Given the description of an element on the screen output the (x, y) to click on. 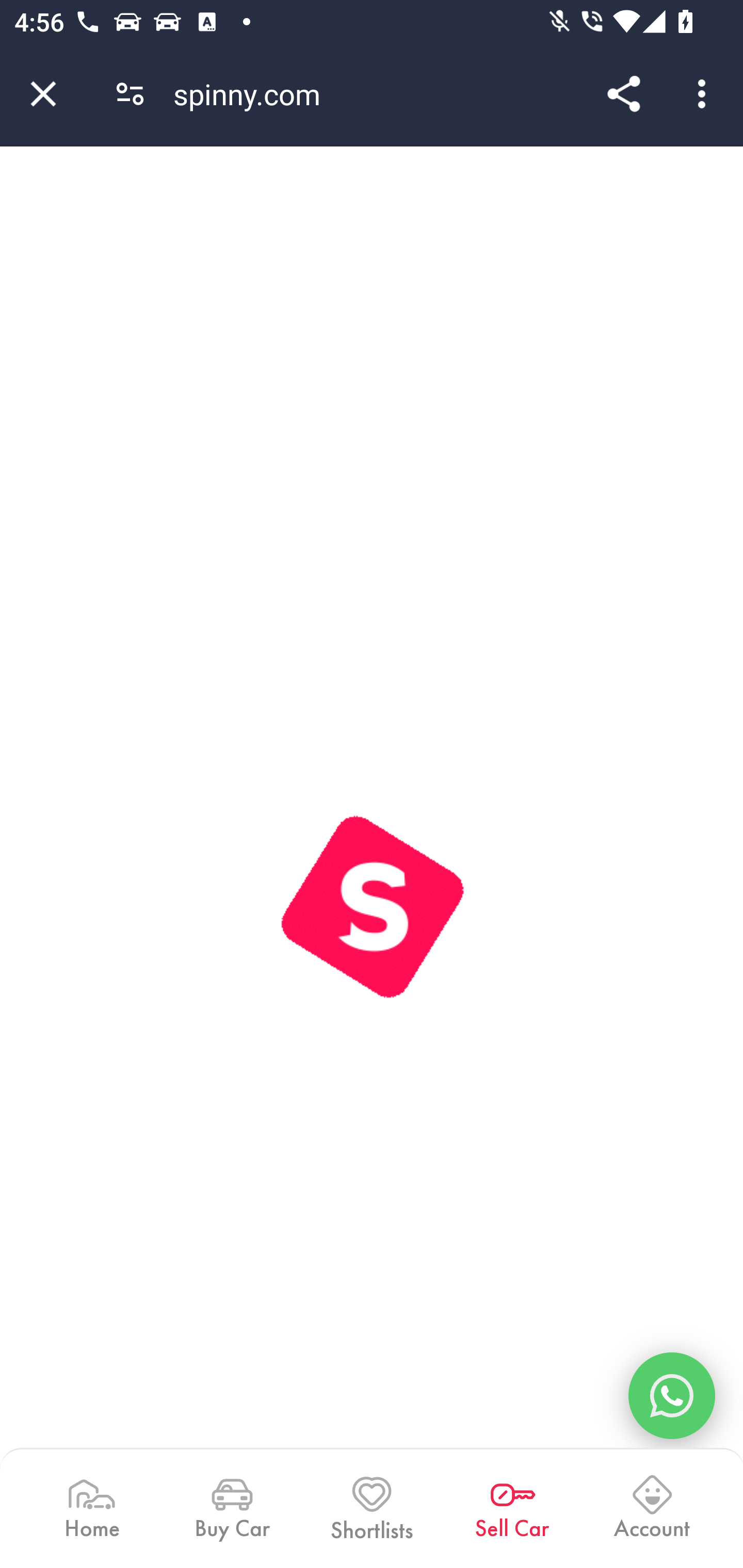
Close tab (43, 93)
Share (623, 93)
Customize and control Google Chrome (705, 93)
Connection is secure (129, 93)
spinny.com (254, 93)
Home (92, 1506)
Buy Car (231, 1506)
Sell Car (511, 1506)
